Given the description of an element on the screen output the (x, y) to click on. 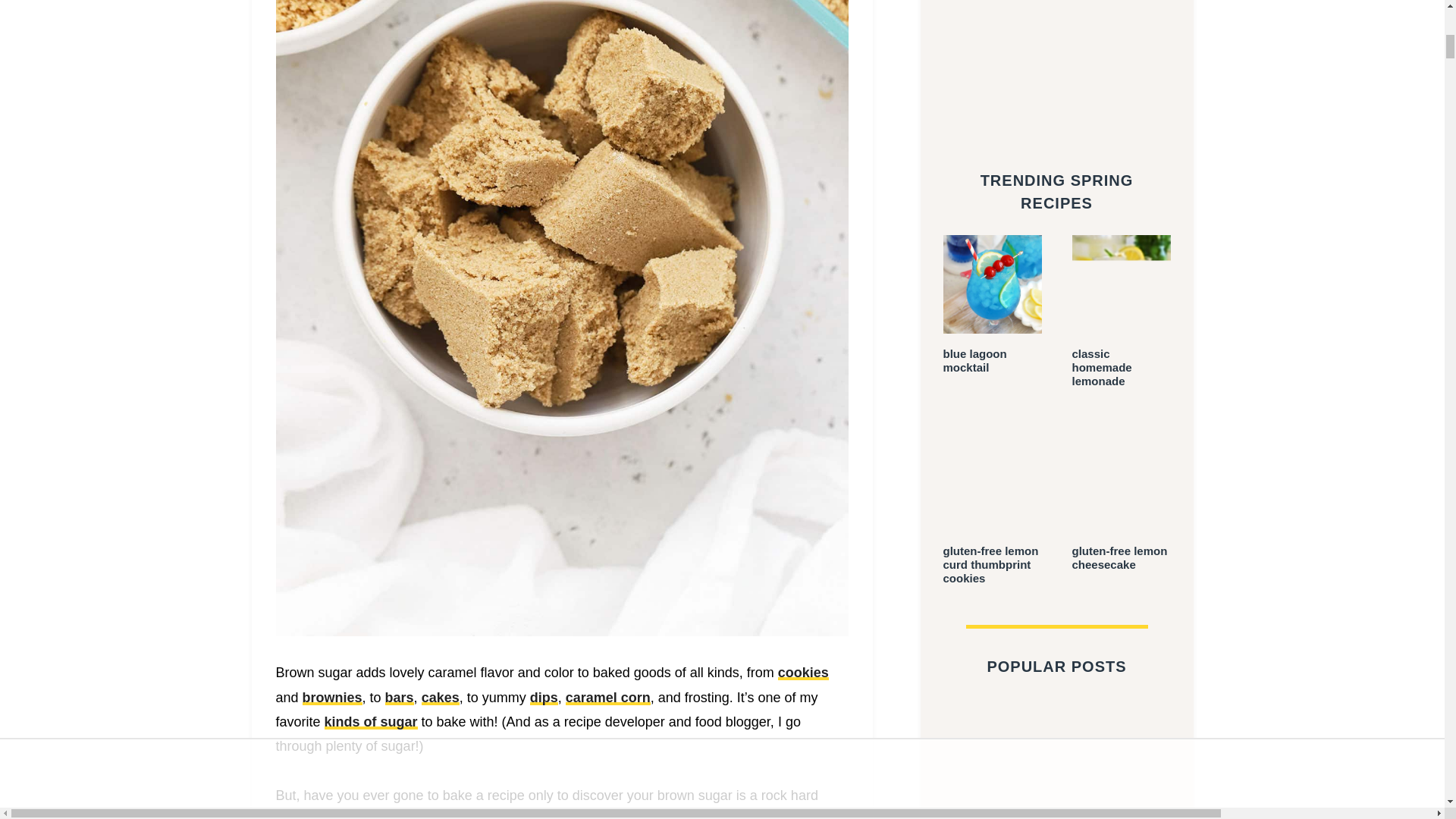
bars (399, 697)
cakes (441, 697)
caramel corn (608, 697)
dips (543, 697)
cookies (802, 672)
kinds of sugar (370, 721)
brownies (332, 697)
